Given the description of an element on the screen output the (x, y) to click on. 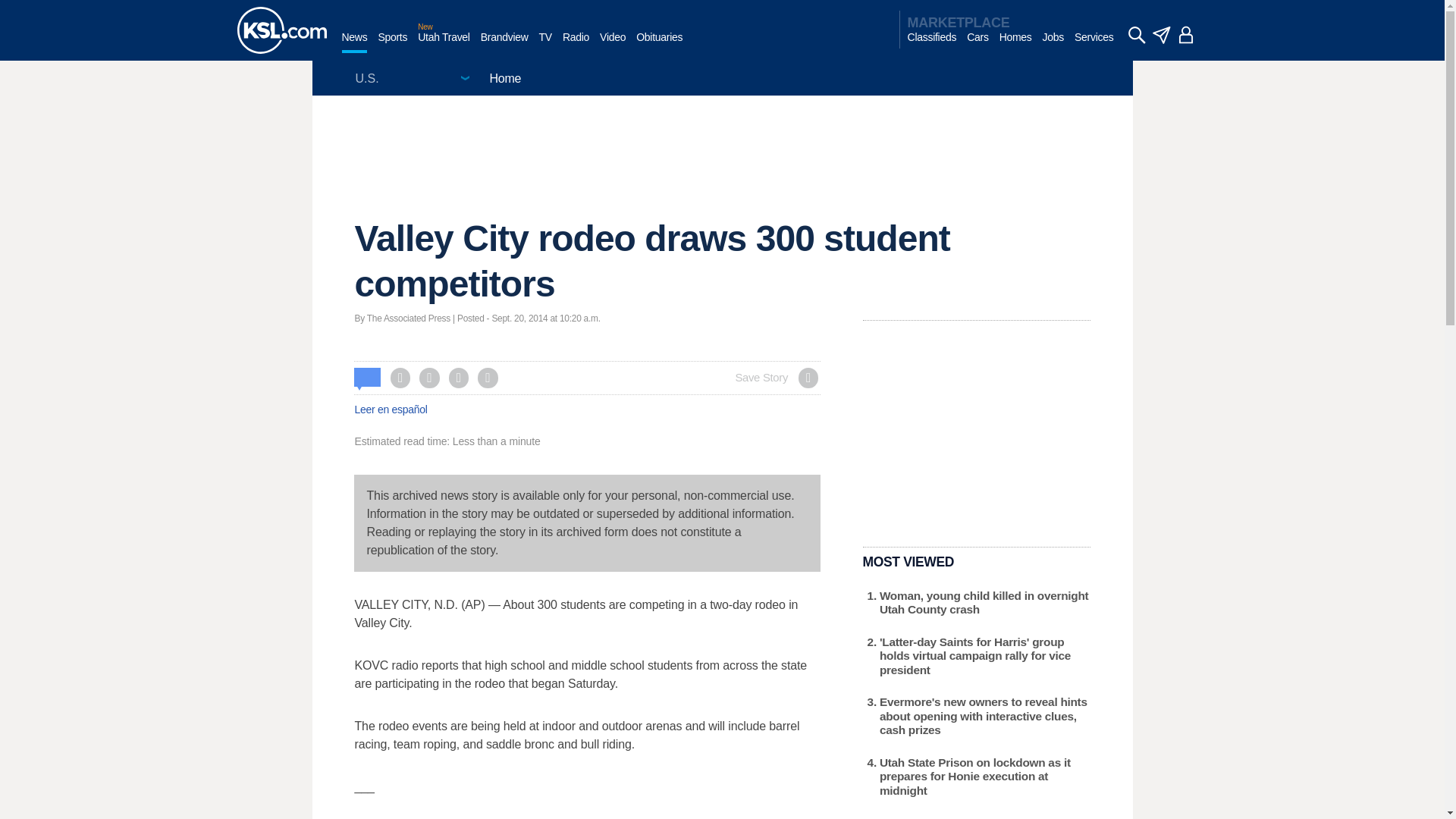
search (1135, 34)
account - logged out (1185, 34)
KSL homepage (280, 29)
